Given the description of an element on the screen output the (x, y) to click on. 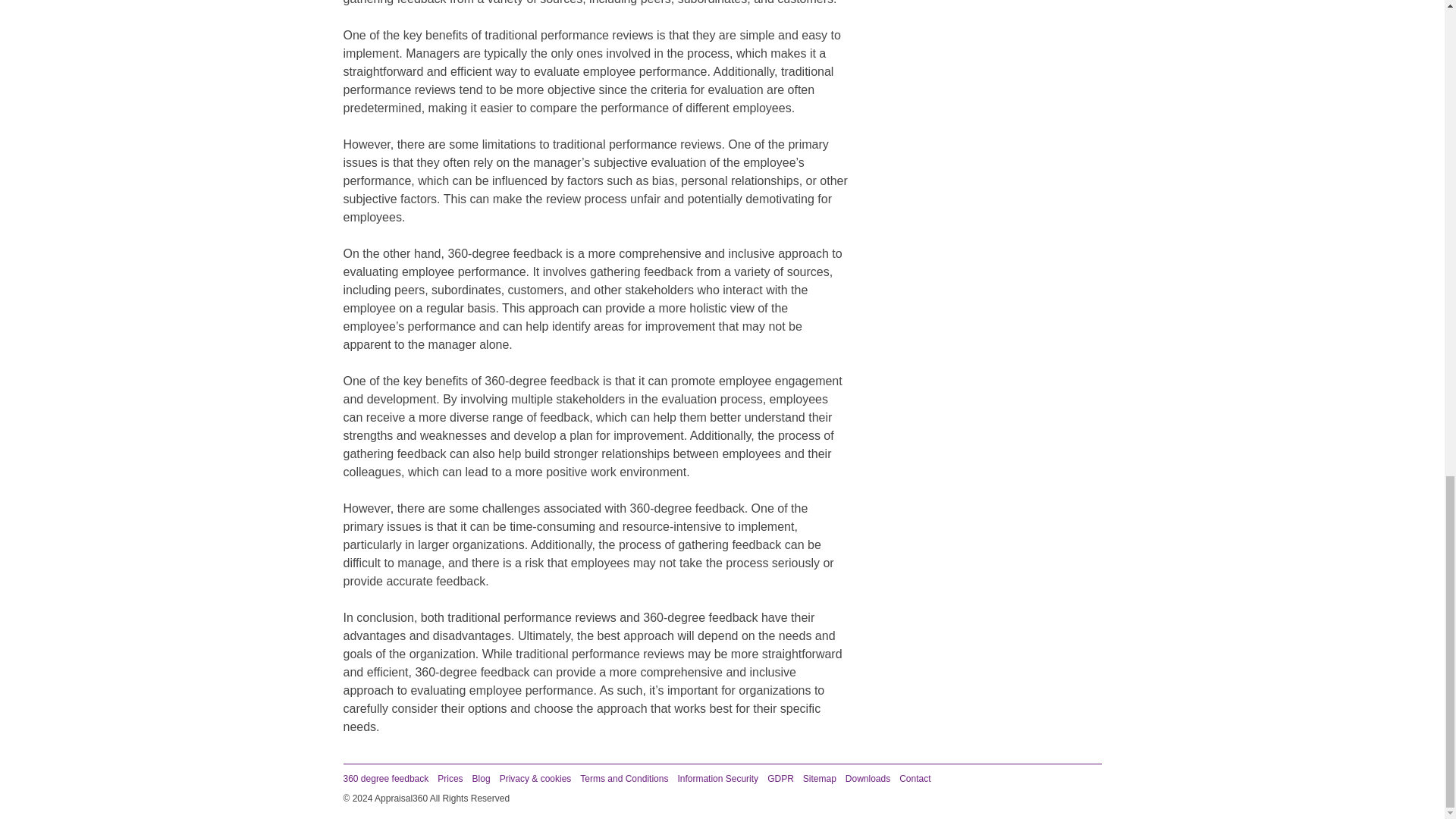
Download 360 degree feedback resources (867, 778)
Latest 360 feedback news (480, 778)
Prices for 30 degree feedback surveys (450, 778)
360 degree feedback home (385, 778)
